Given the description of an element on the screen output the (x, y) to click on. 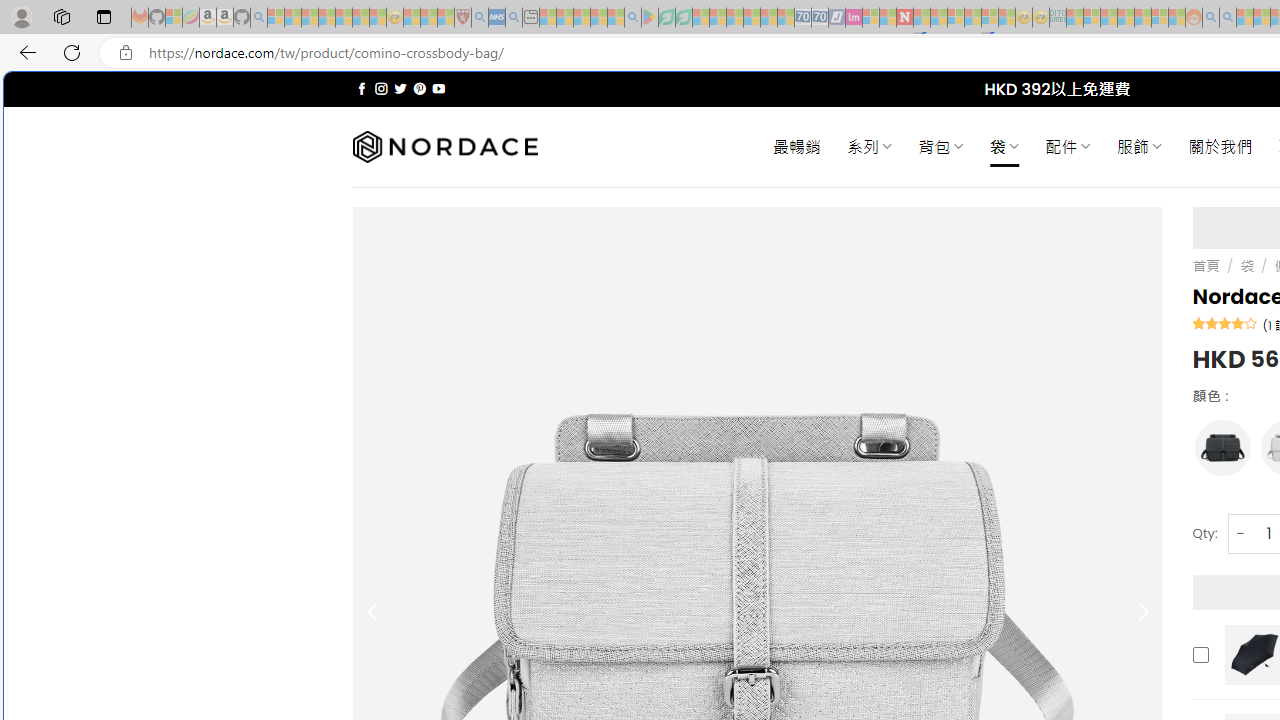
google - Search - Sleeping (632, 17)
Expert Portfolios - Sleeping (1125, 17)
